Given the description of an element on the screen output the (x, y) to click on. 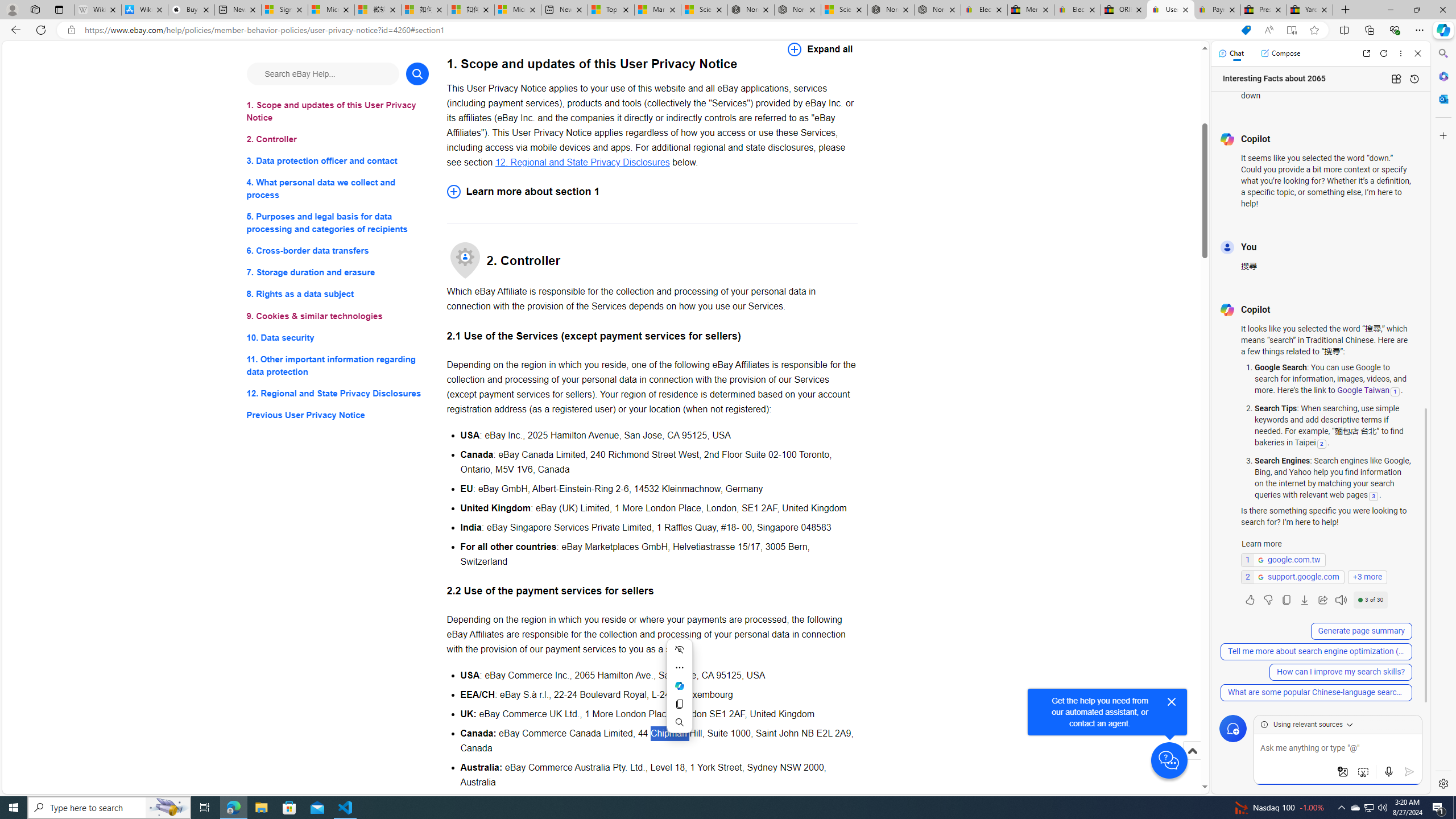
Mini menu on text selection (679, 692)
7. Storage duration and erasure (337, 272)
Enter Immersive Reader (F9) (1291, 29)
12. Regional and State Privacy Disclosures (337, 392)
1. Scope and updates of this User Privacy Notice (337, 111)
1. Scope and updates of this User Privacy Notice (337, 111)
Chat (1231, 52)
4. What personal data we collect and process (337, 189)
3. Data protection officer and contact (337, 160)
Press Room - eBay Inc. (1263, 9)
